Given the description of an element on the screen output the (x, y) to click on. 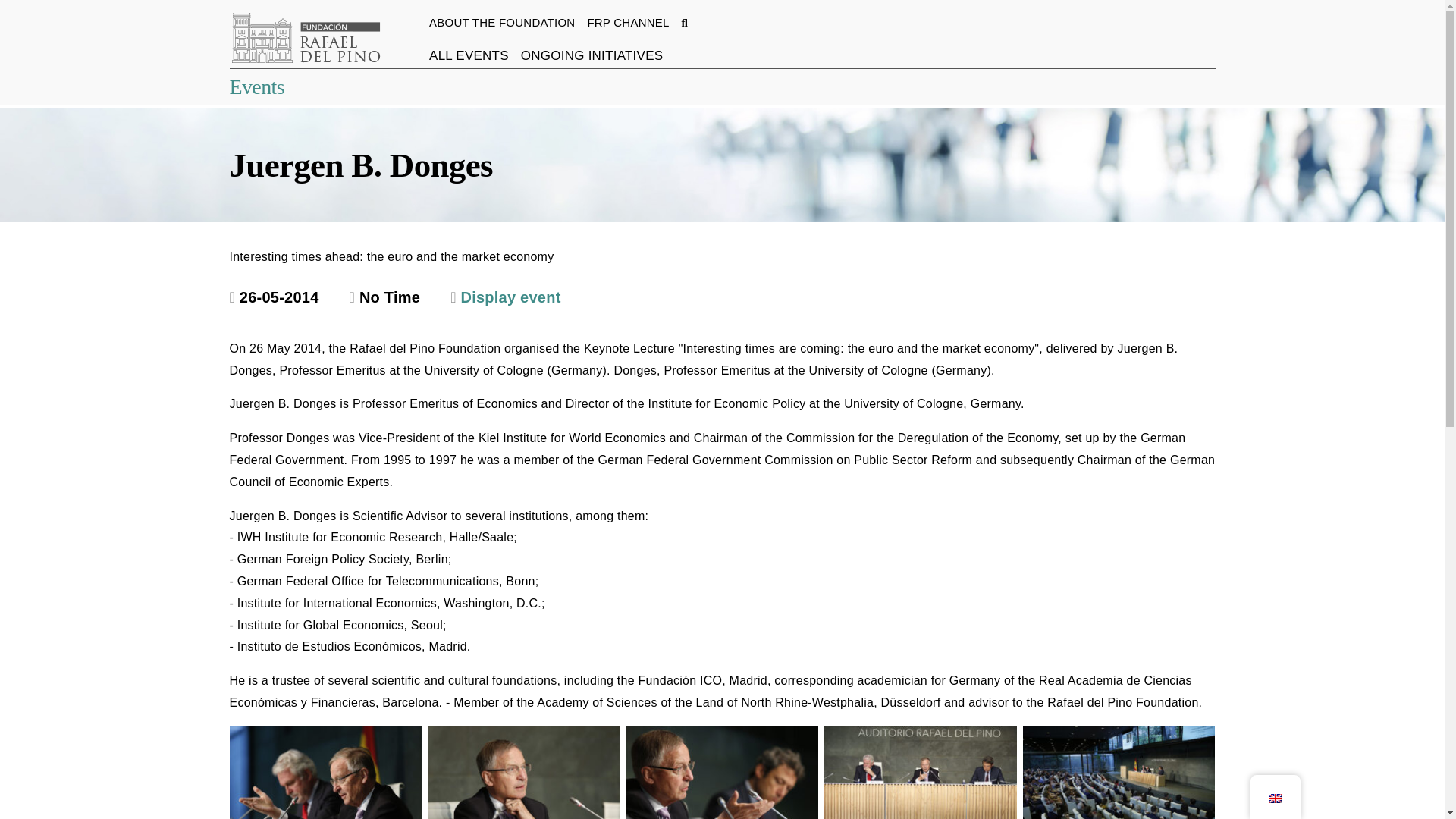
Display event (504, 297)
ABOUT THE FOUNDATION (502, 21)
ONGOING INITIATIVES (591, 55)
Events (255, 86)
FRP CHANNEL (627, 21)
ALL EVENTS (468, 55)
Home Rafael del Pino Foundation (304, 38)
Watch event on canalfrp (504, 297)
Home Events (255, 86)
